Given the description of an element on the screen output the (x, y) to click on. 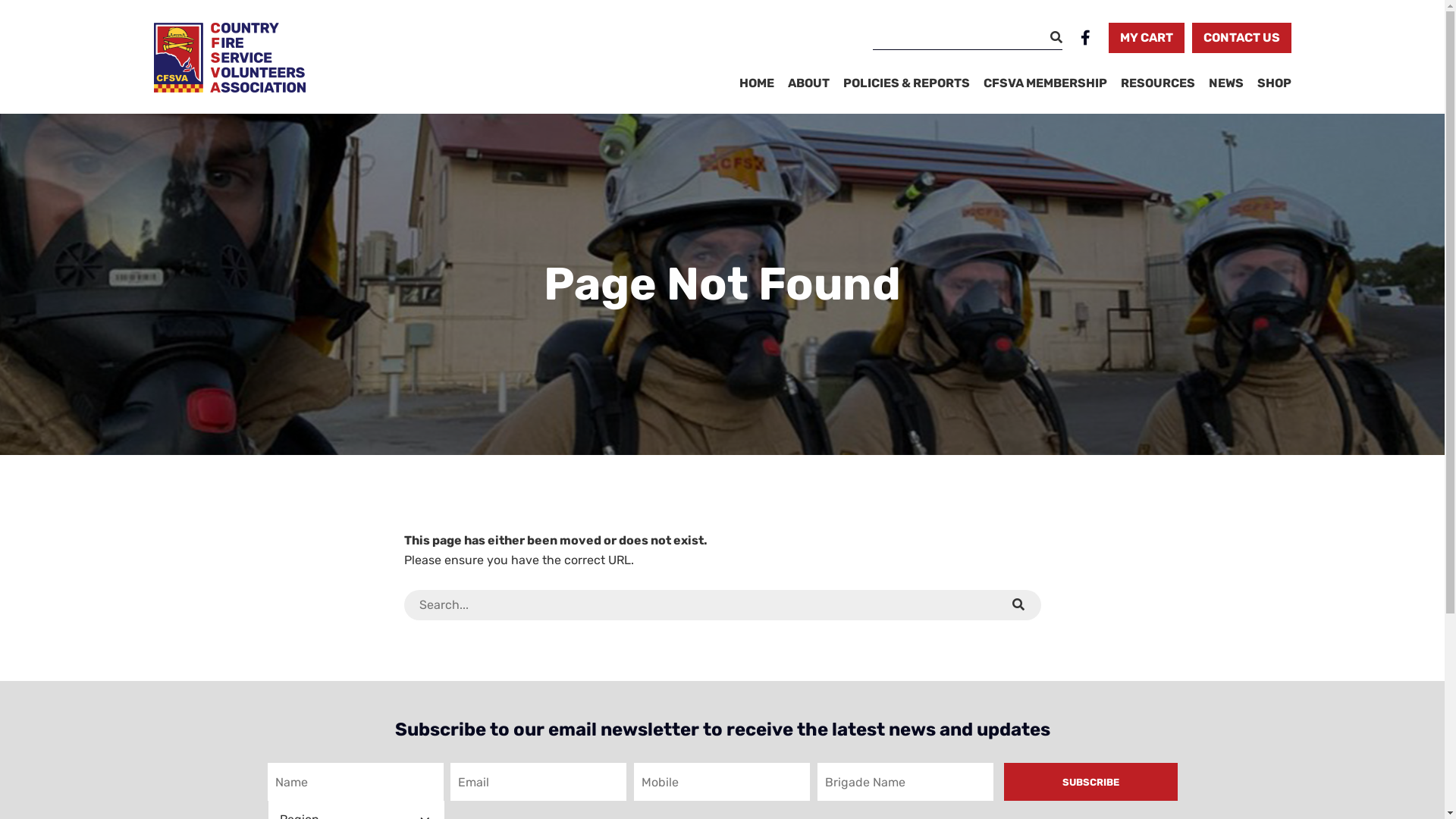
NEWS Element type: text (1225, 82)
ABOUT Element type: text (807, 82)
MY CART Element type: text (1146, 37)
RESOURCES Element type: text (1157, 82)
CONTACT US Element type: text (1241, 37)
POLICIES & REPORTS Element type: text (906, 82)
HOME Element type: text (755, 82)
CFSVA MEMBERSHIP Element type: text (1044, 82)
Subscribe Element type: text (1090, 781)
SHOP Element type: text (1274, 82)
